Given the description of an element on the screen output the (x, y) to click on. 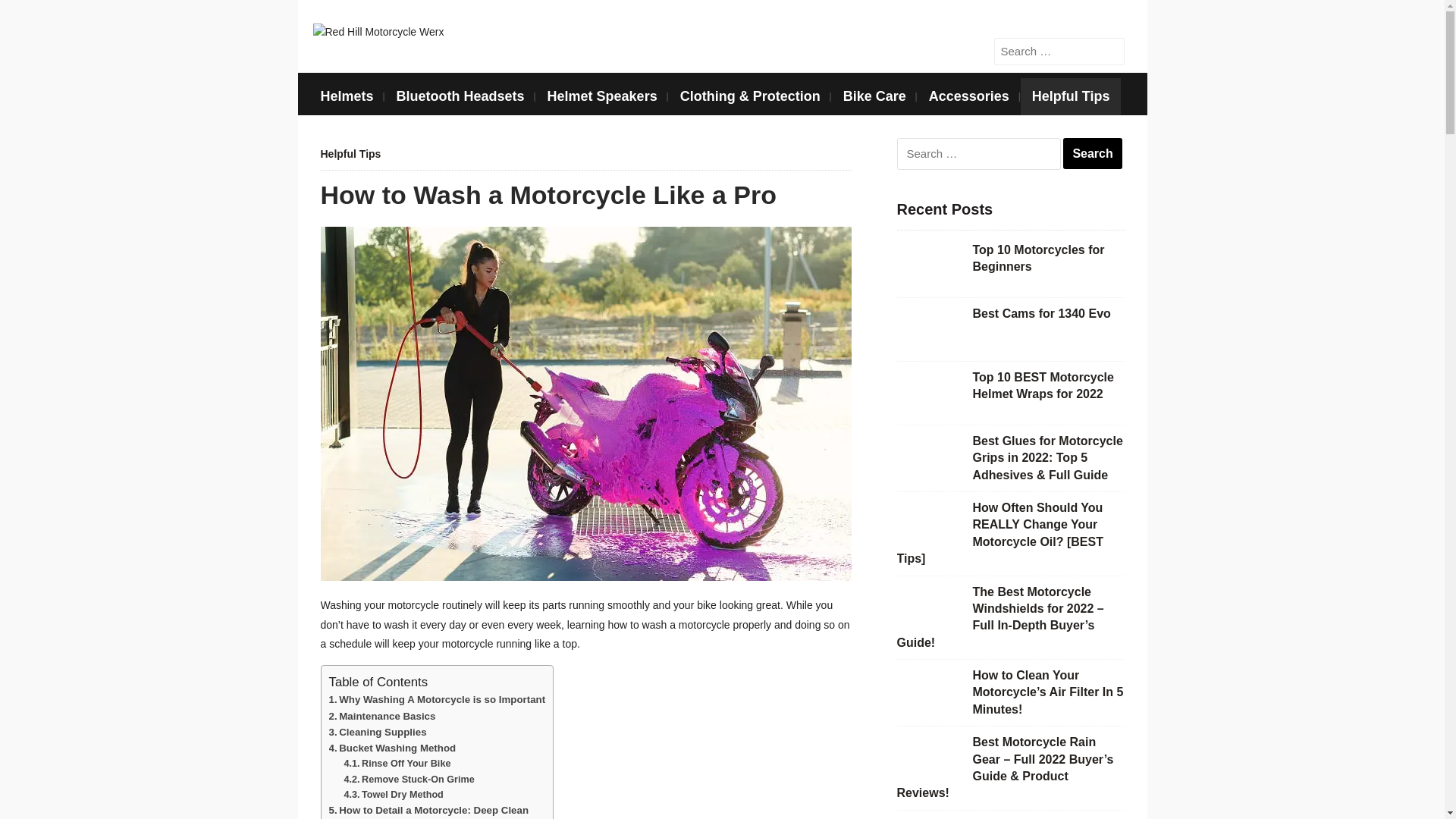
Search (1091, 153)
Everything Motorcycle in One Place! (378, 30)
Search (1111, 50)
Permanent Link to How to Wash a Motorcycle Like a Pro (548, 194)
Remove Stuck-On Grime (408, 778)
Search for: (977, 153)
How to Detail a Motorcycle: Deep Clean (429, 809)
Rinse Off Your Bike (396, 763)
Bucket Washing Method (393, 747)
Search (1111, 50)
Search for: (1058, 51)
Search (1111, 50)
Cleaning Supplies (377, 731)
Why Washing A Motorcycle is so Important (437, 699)
Search (1091, 153)
